Given the description of an element on the screen output the (x, y) to click on. 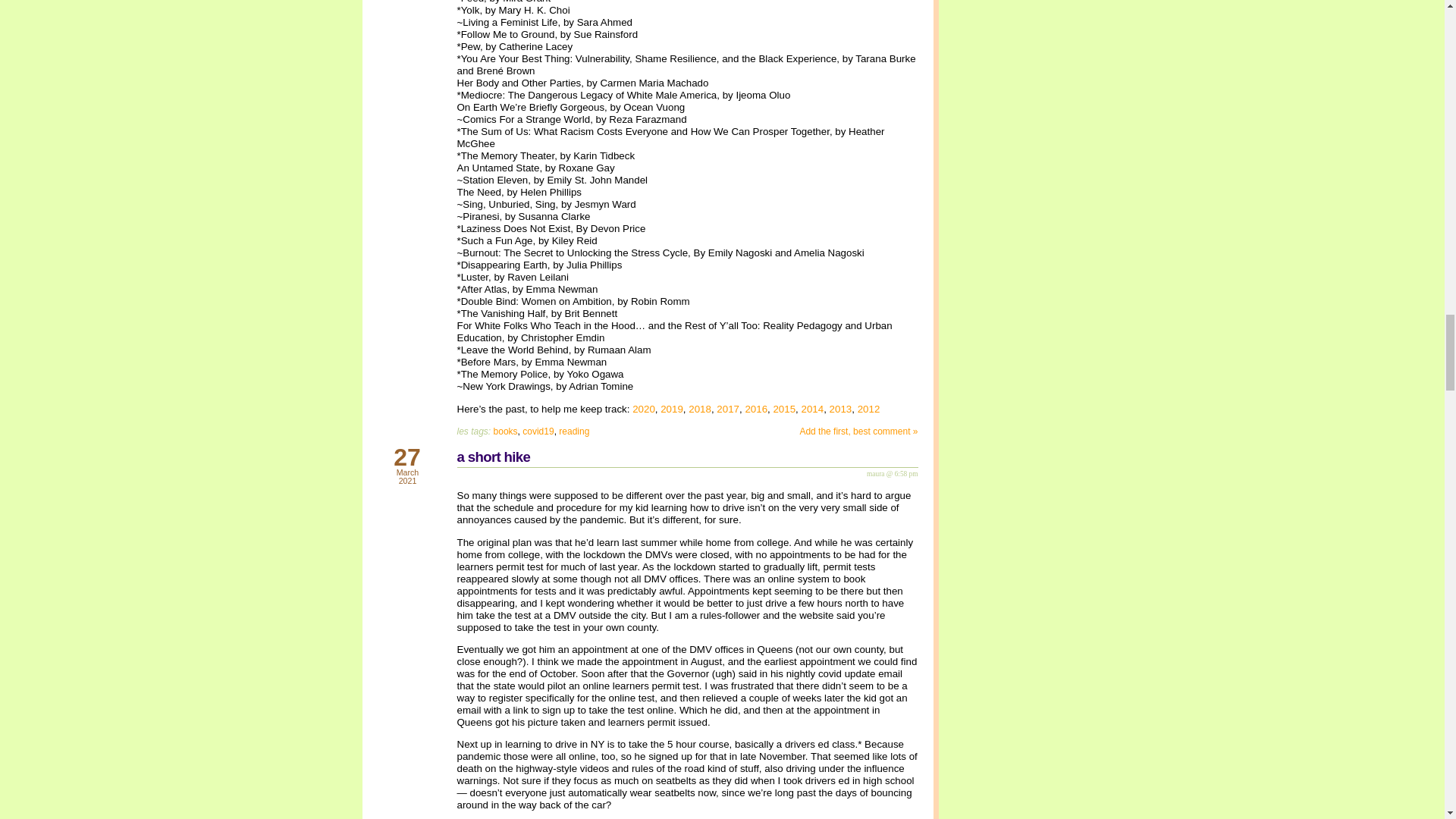
2015 (783, 408)
2016 (755, 408)
2017 (727, 408)
2013 (840, 408)
2019 (671, 408)
2012 (868, 408)
2014 (813, 408)
2018 (699, 408)
2020 (643, 408)
books (505, 430)
